Given the description of an element on the screen output the (x, y) to click on. 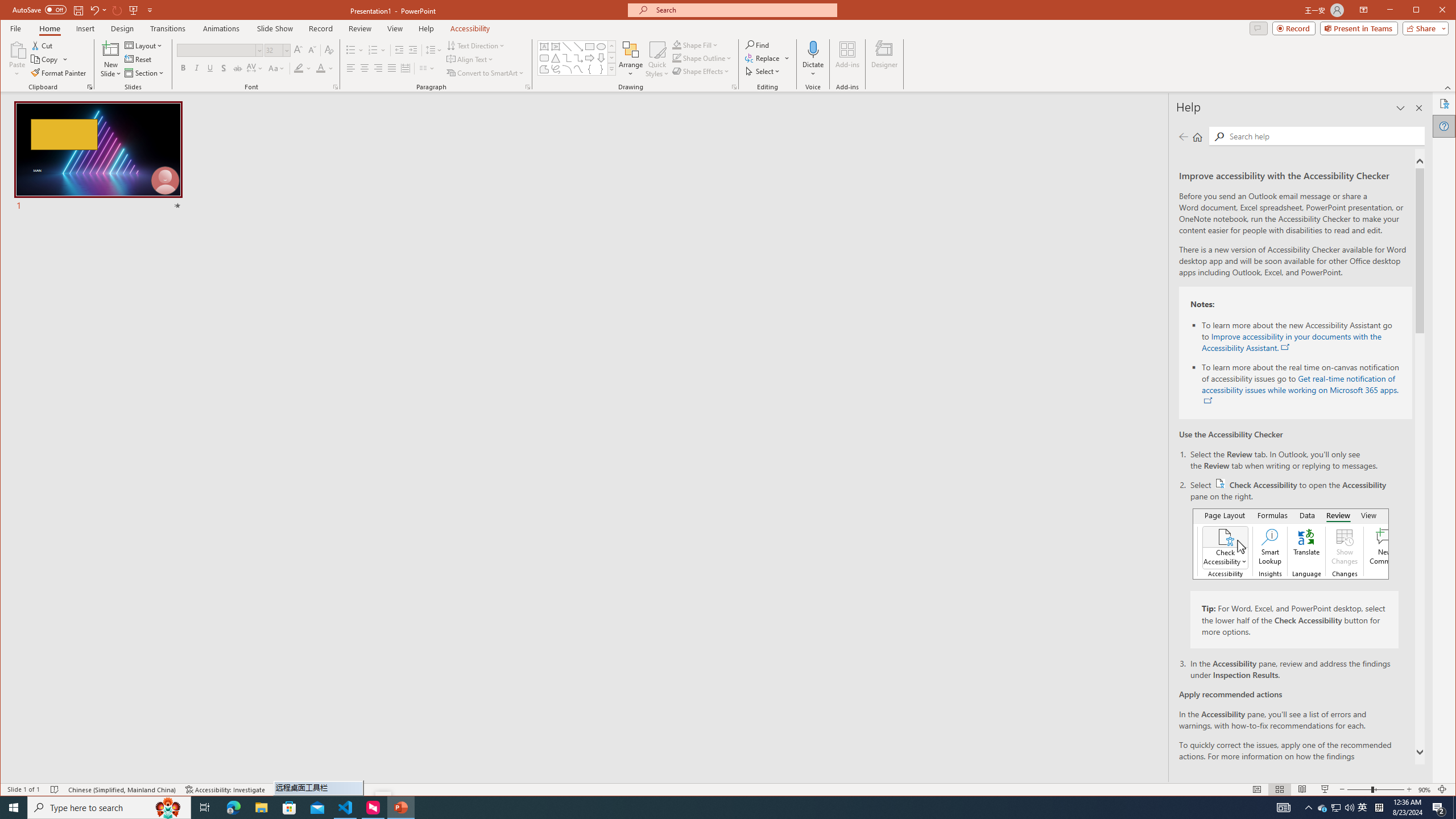
Accessibility checker button on ribbon (1290, 543)
